Given the description of an element on the screen output the (x, y) to click on. 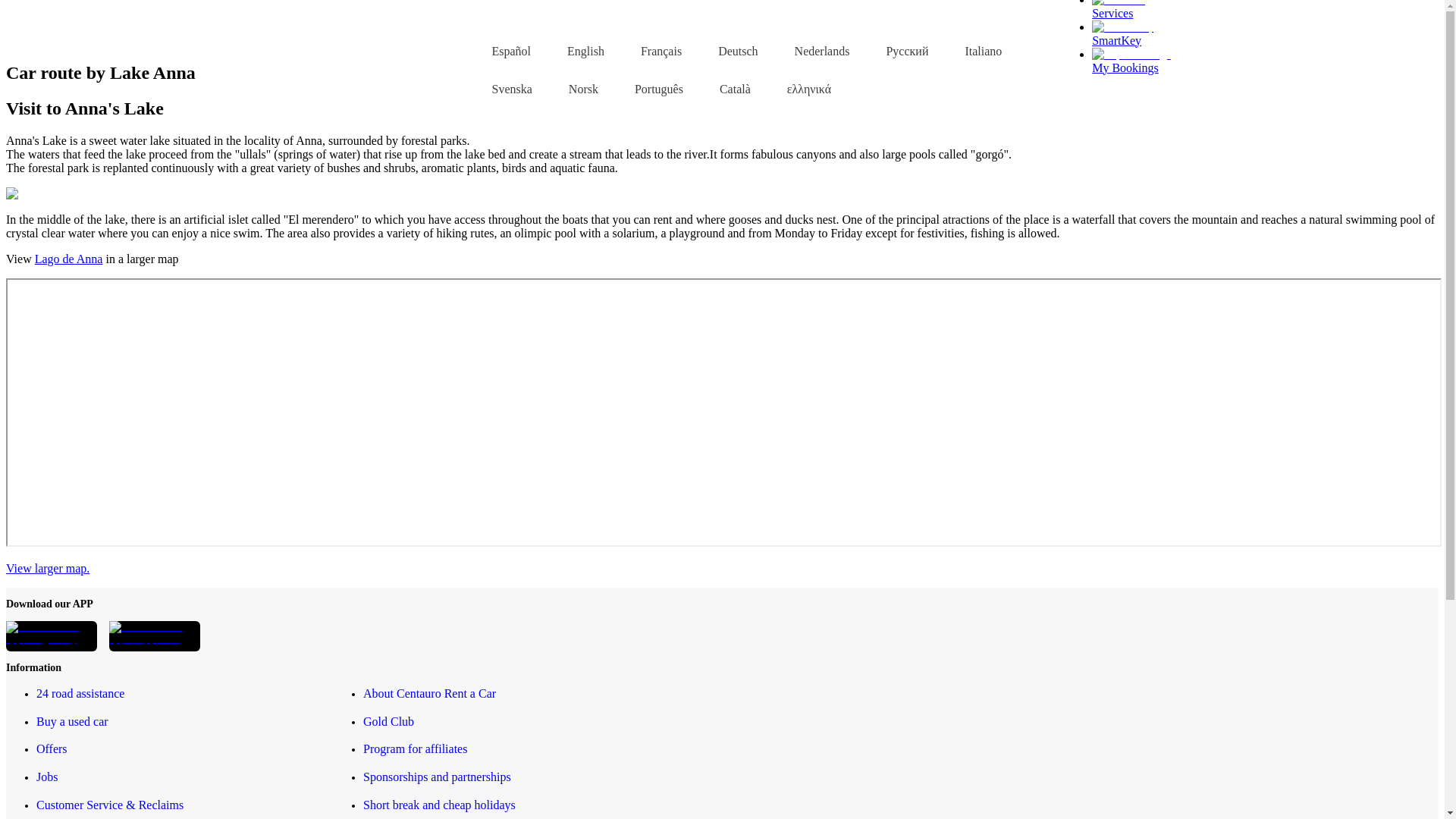
Norsk (574, 88)
Program for affiliates (414, 748)
Deutsch (728, 50)
Buy a used car (71, 721)
My Bookings (1131, 59)
Italiano (973, 50)
English (576, 50)
Lago de Anna (68, 258)
SmartKey (1122, 32)
Norsk (574, 88)
English (576, 50)
Car hire (334, 35)
Italiano (973, 50)
About Centauro Rent a Car (429, 693)
Offers (51, 748)
